Given the description of an element on the screen output the (x, y) to click on. 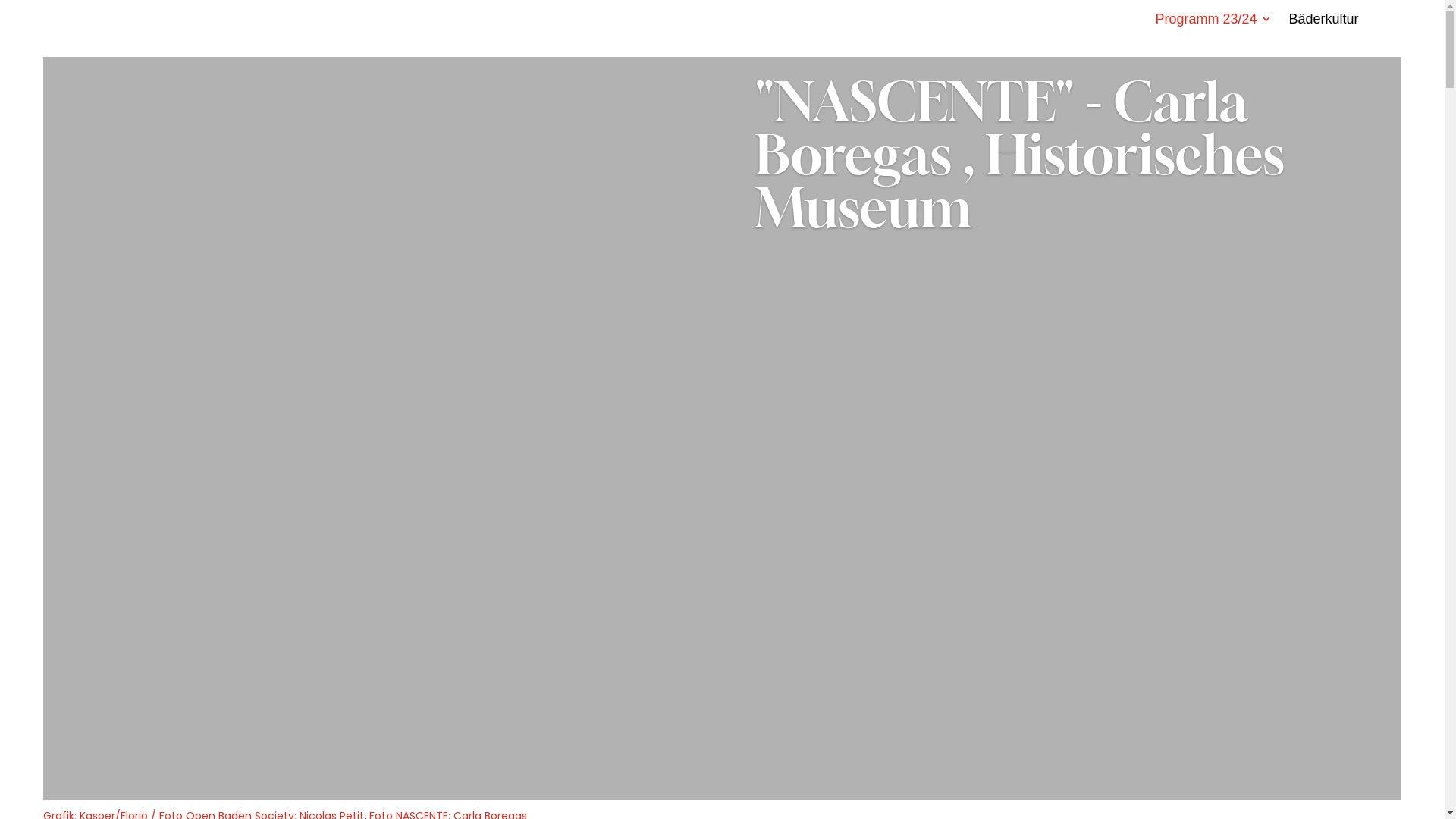
Programm 23/24 Element type: text (1212, 21)
